Given the description of an element on the screen output the (x, y) to click on. 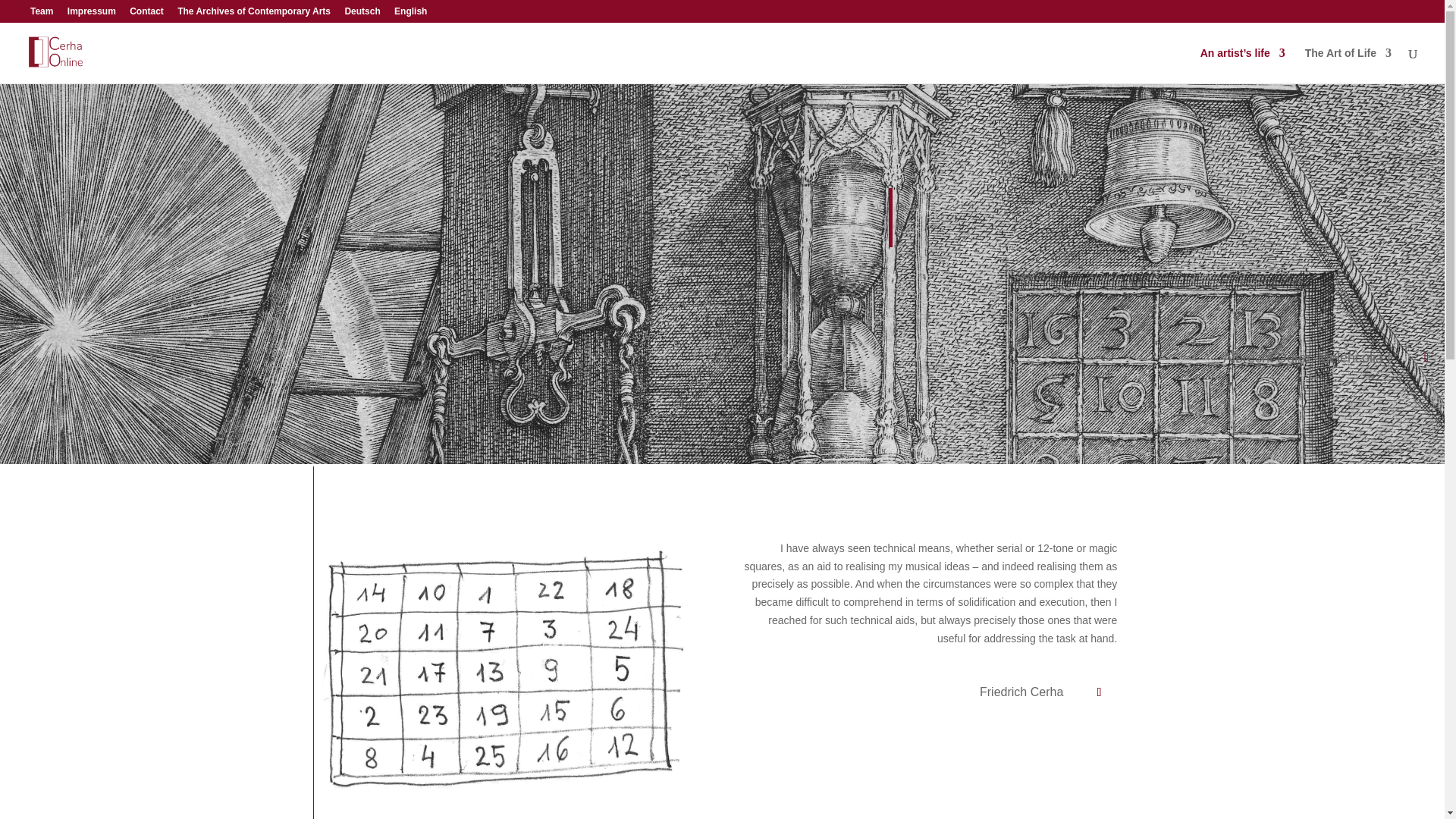
Impressum (91, 14)
Deutsch (361, 14)
Quadrat PNG (503, 670)
English (410, 14)
The Archives of Contemporary Arts (253, 14)
Team (41, 14)
The Art of Life (1347, 65)
Contact (146, 14)
